Given the description of an element on the screen output the (x, y) to click on. 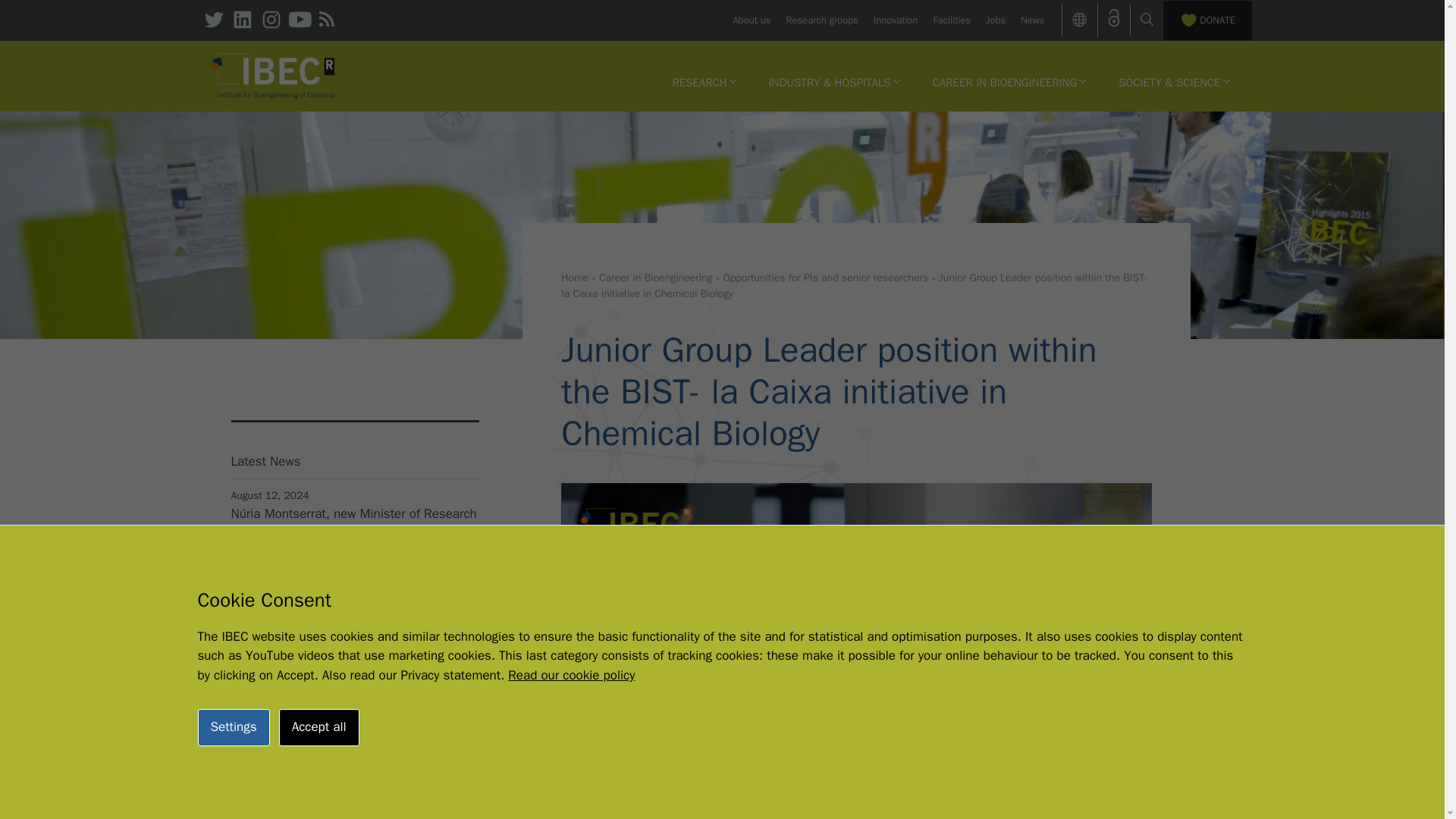
About us (751, 19)
Innovation (895, 19)
Research groups (822, 19)
RESEARCH (704, 81)
News (1031, 19)
Institute for Bioengineering of Catalonia (272, 75)
Jobs (995, 19)
Facilities (952, 19)
DONATE (1207, 20)
Institute for Bioengineering of Catalonia (272, 74)
